Given the description of an element on the screen output the (x, y) to click on. 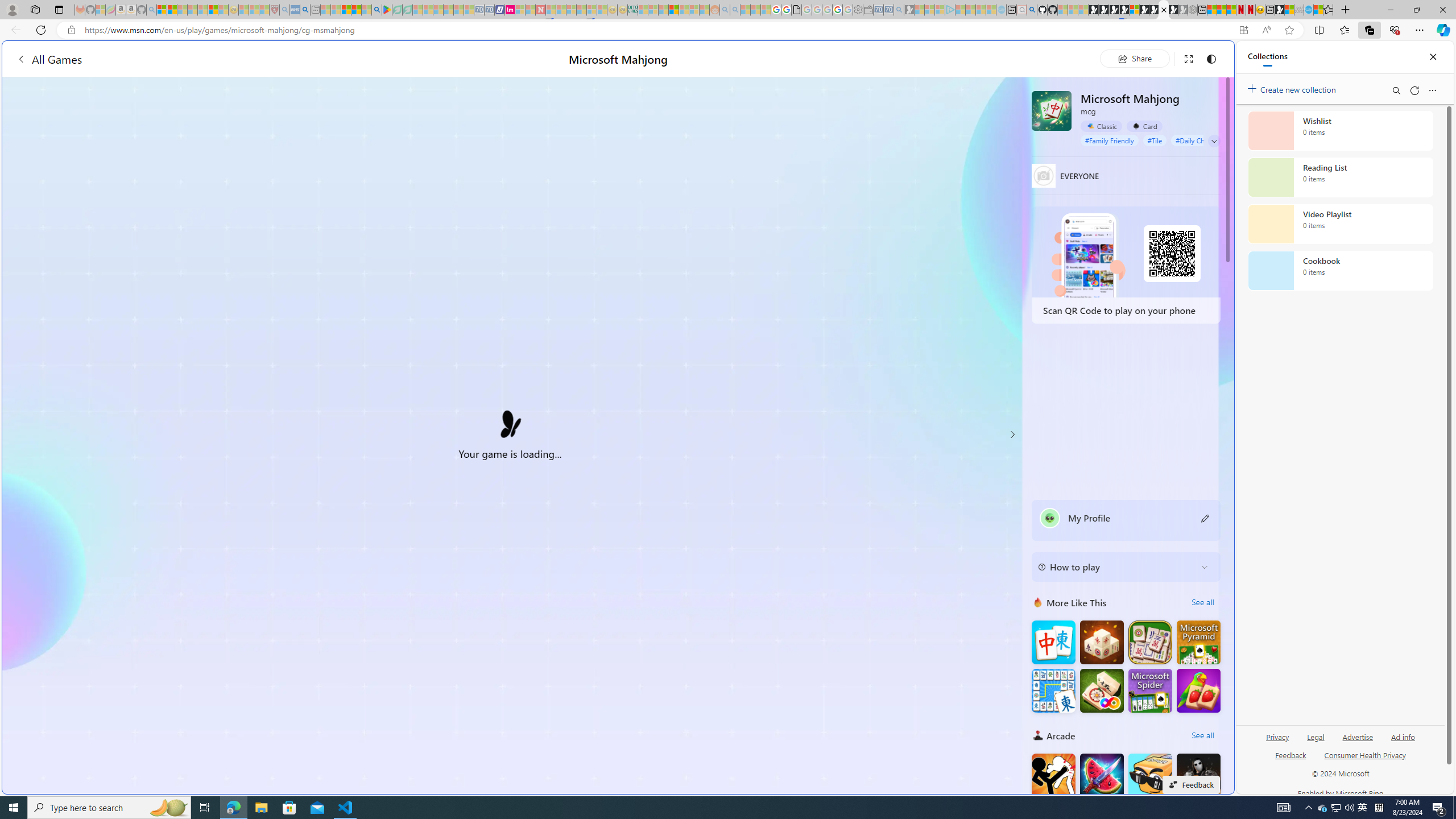
Classic (1101, 125)
Class: control (1214, 140)
Video Playlist collection, 0 items (1339, 223)
App available. Install Microsoft Mahjong (1243, 29)
